Given the description of an element on the screen output the (x, y) to click on. 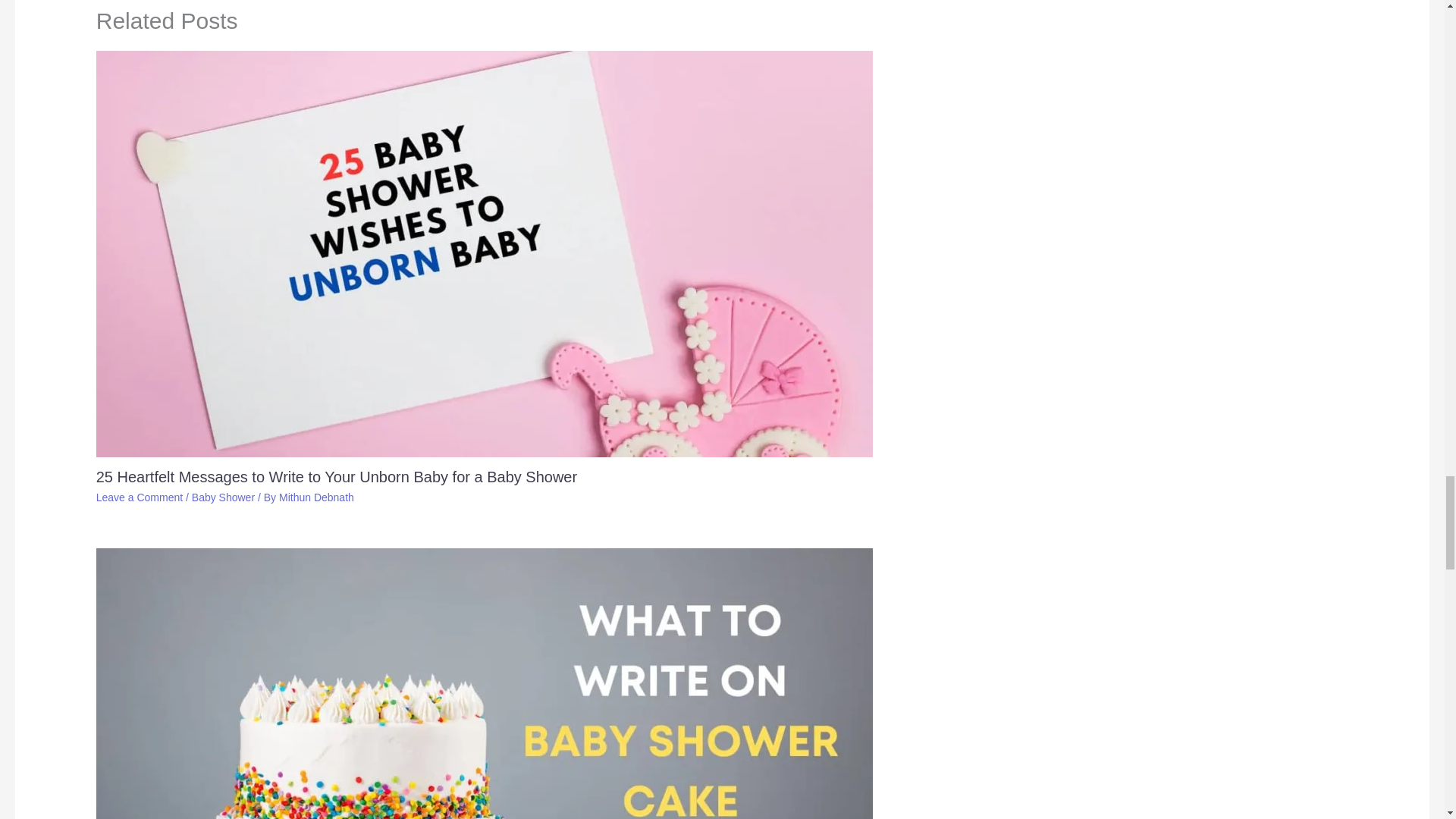
Mithun Debnath (316, 497)
View all posts by Mithun Debnath (316, 497)
Baby Shower (223, 497)
Leave a Comment (139, 497)
